Given the description of an element on the screen output the (x, y) to click on. 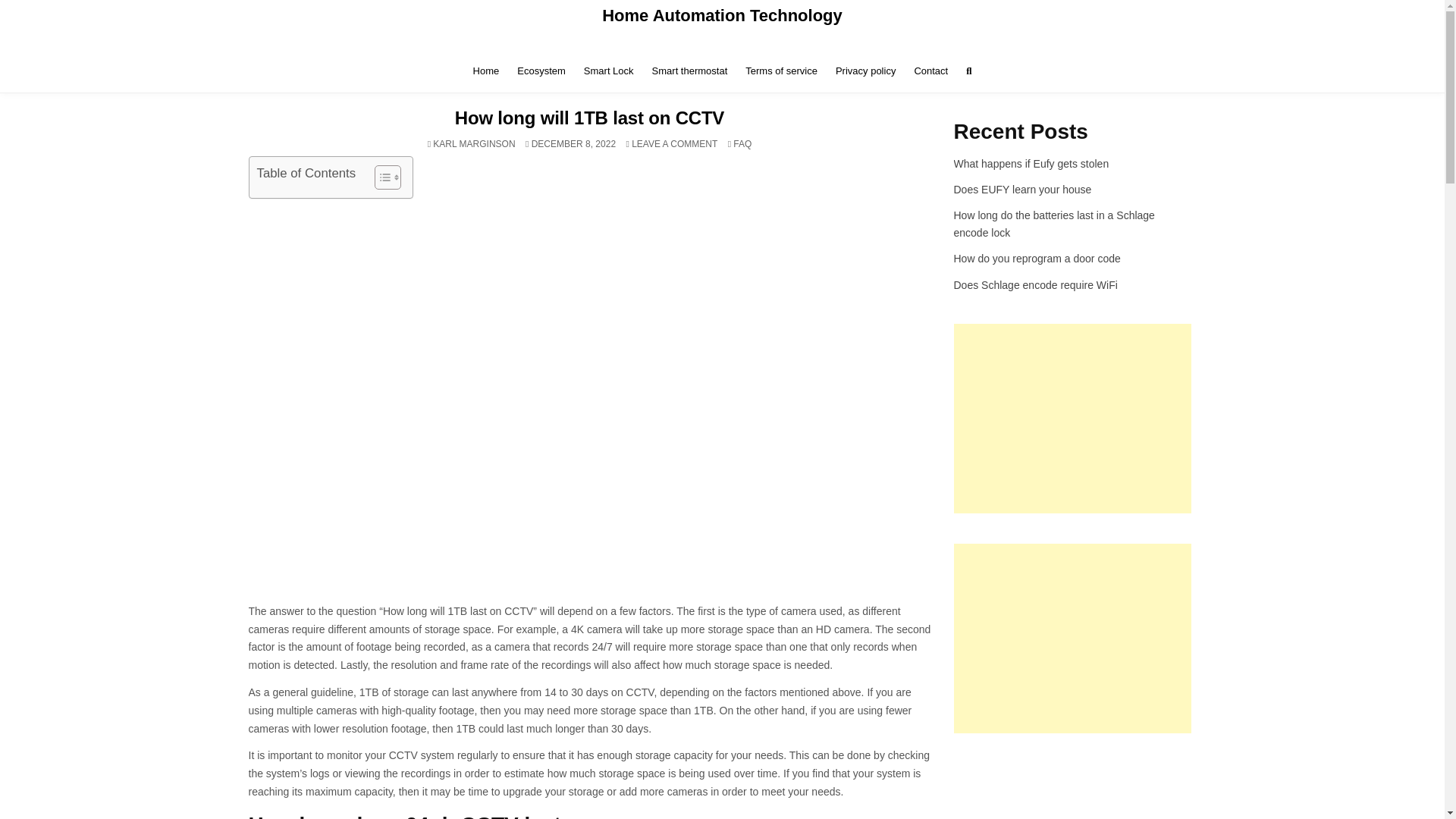
Does Schlage encode require WiFi (1035, 285)
Contact (930, 70)
Advertisement (1072, 418)
What happens if Eufy gets stolen (1031, 163)
Ecosystem (541, 70)
Privacy policy (674, 143)
Smart thermostat (865, 70)
How Long Do Security Cameras Last? (689, 70)
KARL MARGINSON (486, 70)
Does EUFY learn your house (473, 143)
FAQ (1022, 189)
Smart Lock (742, 143)
How do you reprogram a door code (609, 70)
